Given the description of an element on the screen output the (x, y) to click on. 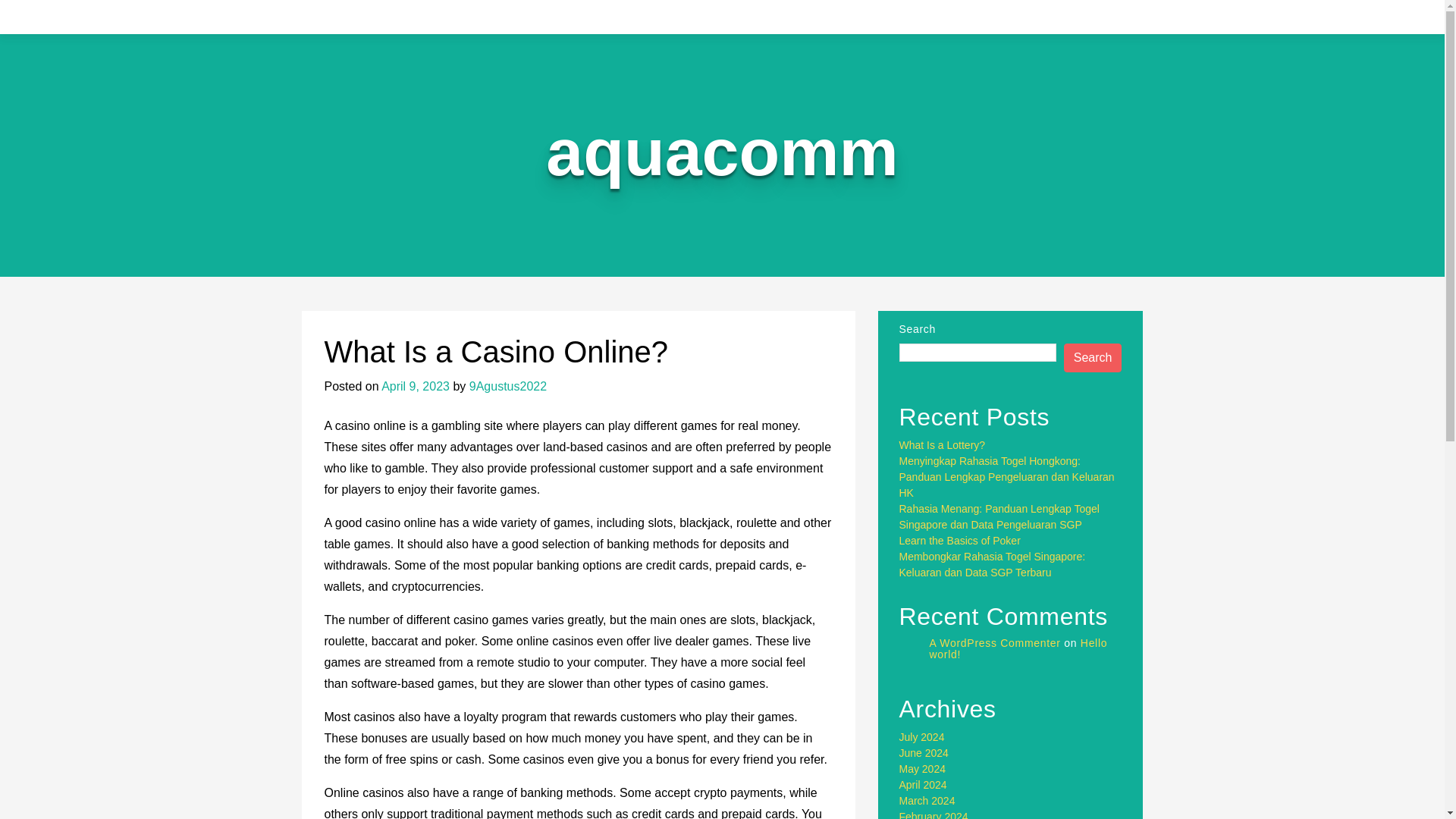
Learn the Basics of Poker (959, 540)
What Is a Lottery? (942, 444)
Search (1093, 357)
July 2024 (921, 736)
April 9, 2023 (415, 386)
February 2024 (933, 814)
A WordPress Commenter (995, 643)
May 2024 (921, 768)
Hello world! (1019, 648)
April 2024 (923, 784)
March 2024 (927, 800)
9Agustus2022 (507, 386)
